Given the description of an element on the screen output the (x, y) to click on. 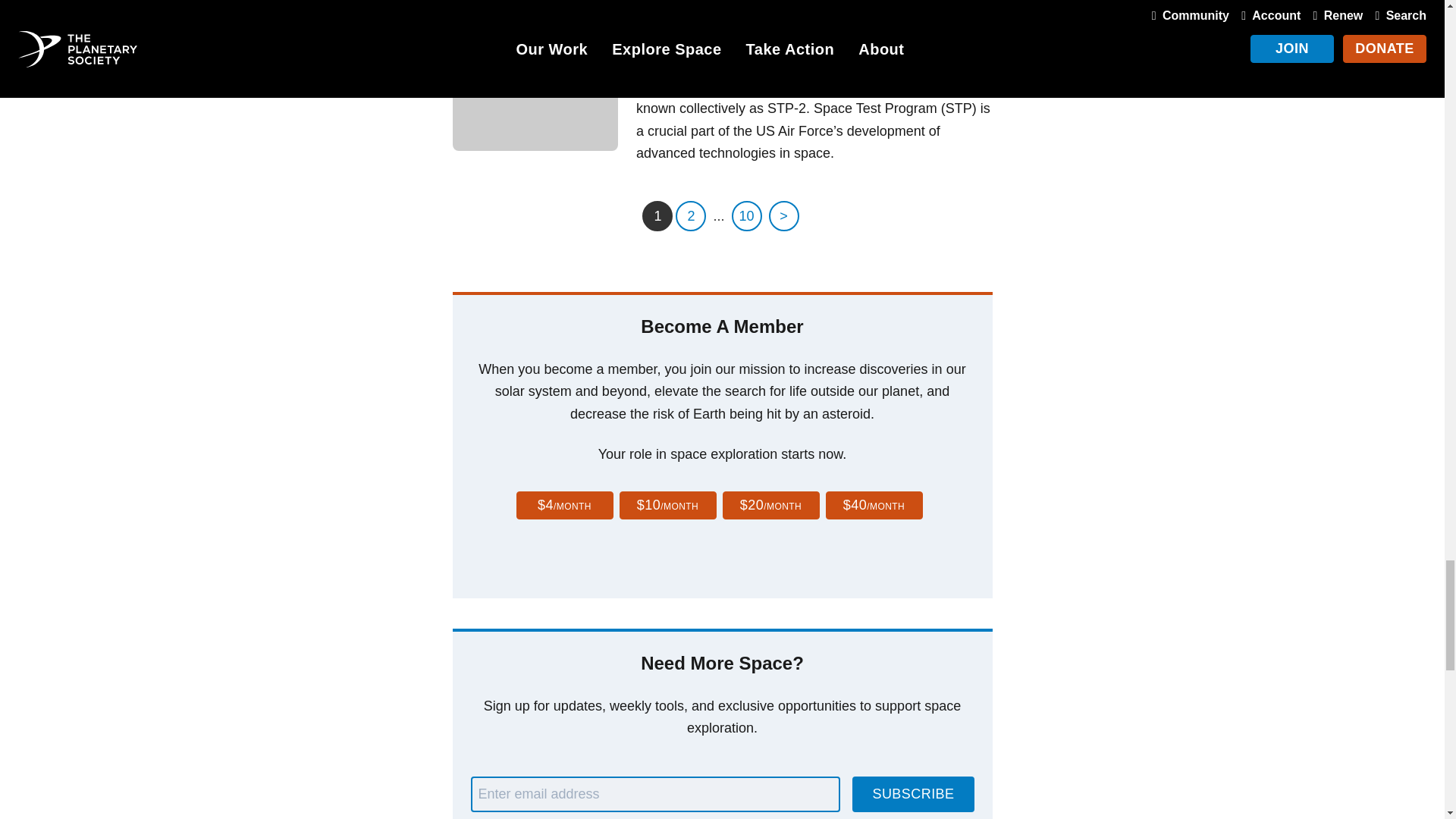
Subscribe (912, 794)
